Given the description of an element on the screen output the (x, y) to click on. 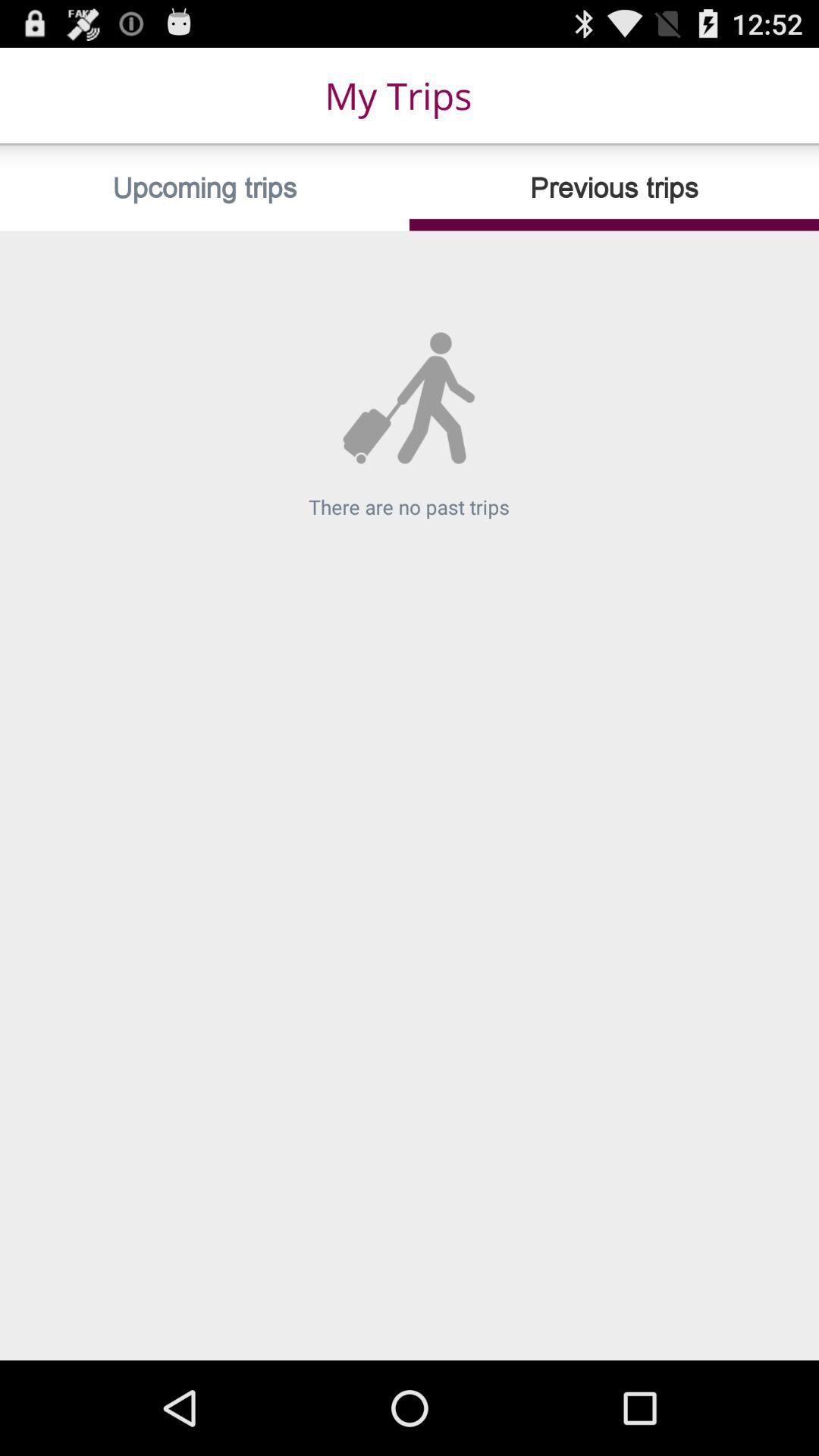
launch the item at the top left corner (204, 187)
